Given the description of an element on the screen output the (x, y) to click on. 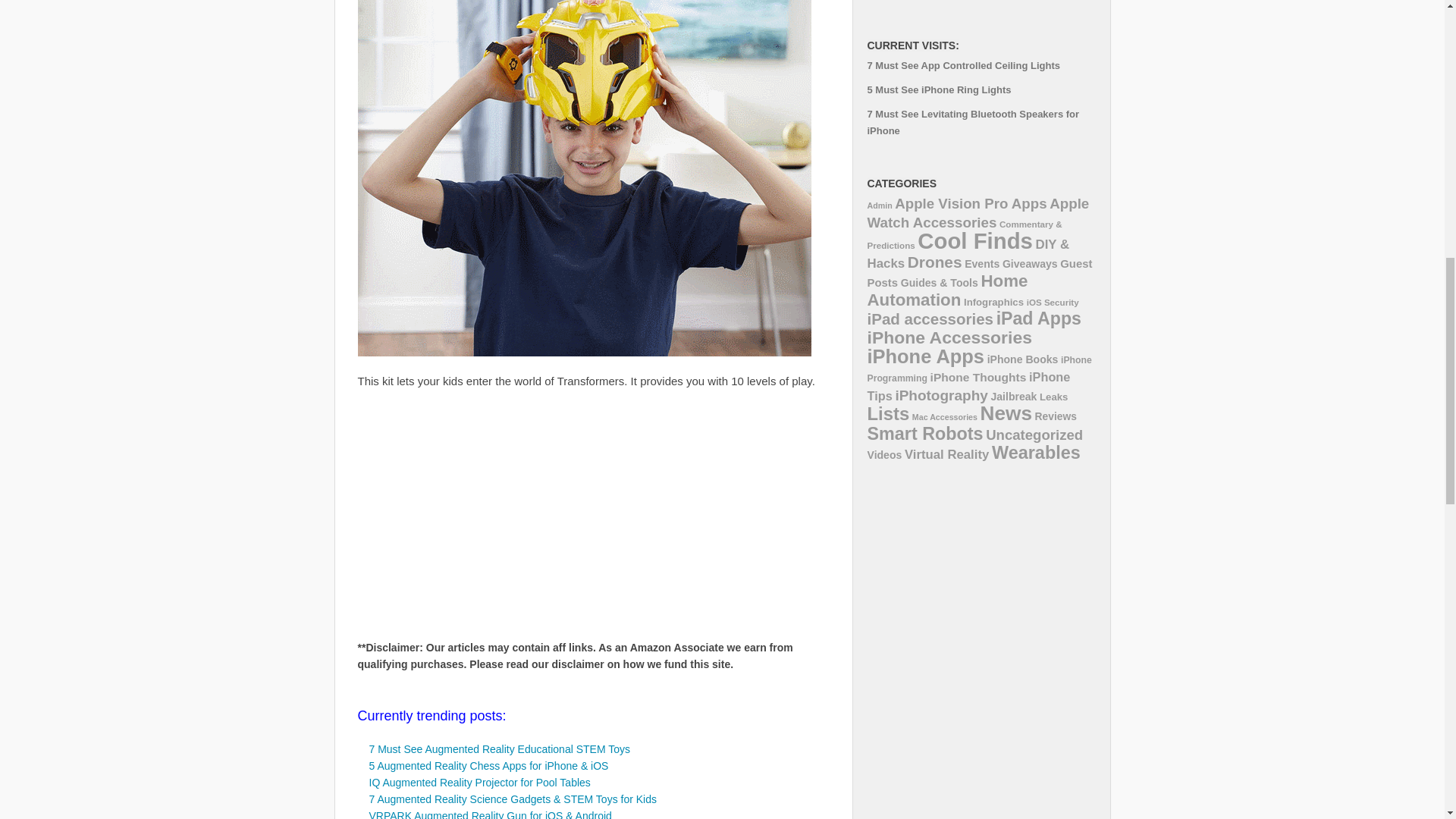
7 Must See Augmented Reality Educational STEM Toys (498, 748)
IQ Augmented Reality Projector for Pool Tables (478, 782)
